Given the description of an element on the screen output the (x, y) to click on. 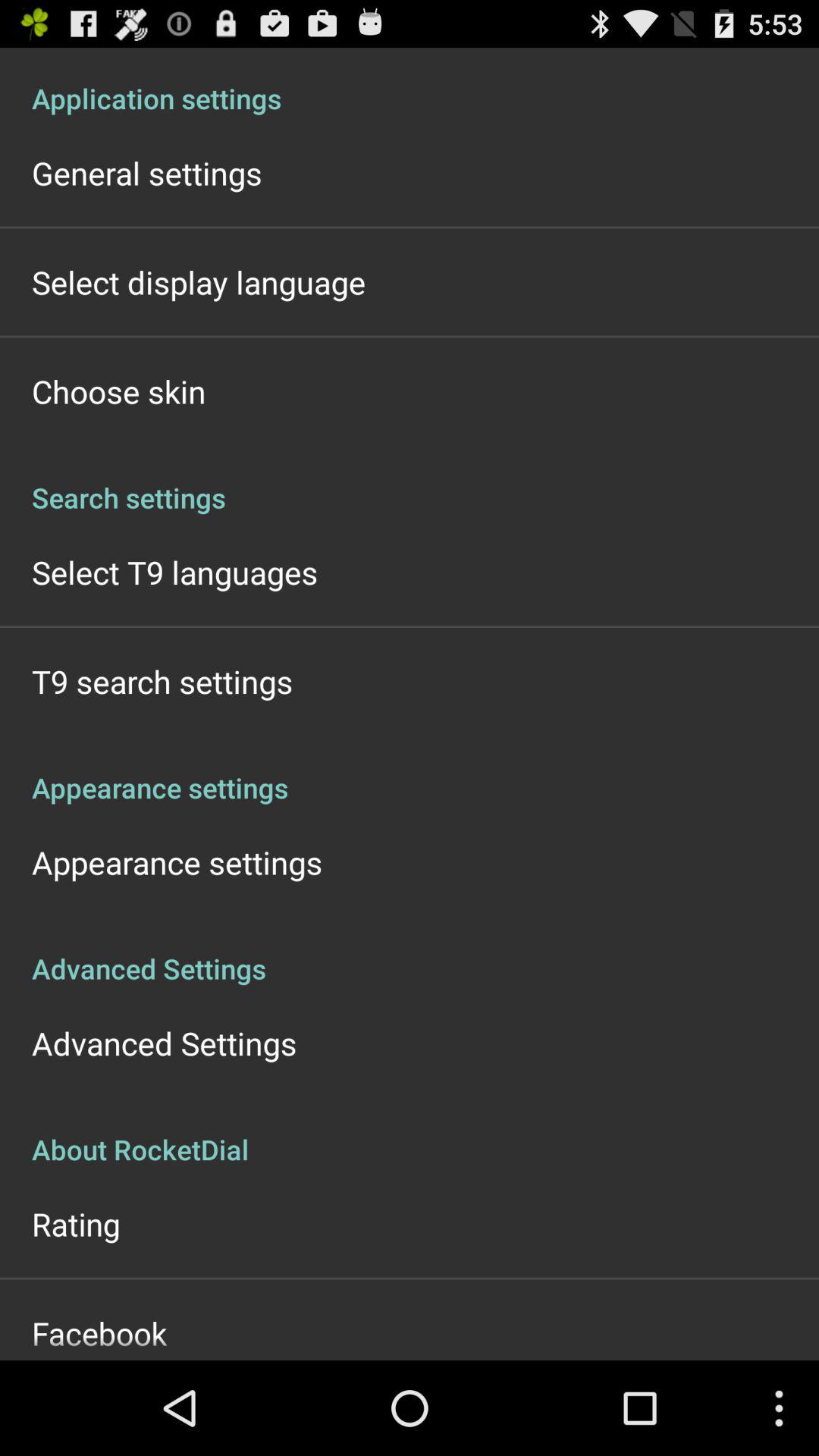
turn on app below the about rocketdial (75, 1223)
